Given the description of an element on the screen output the (x, y) to click on. 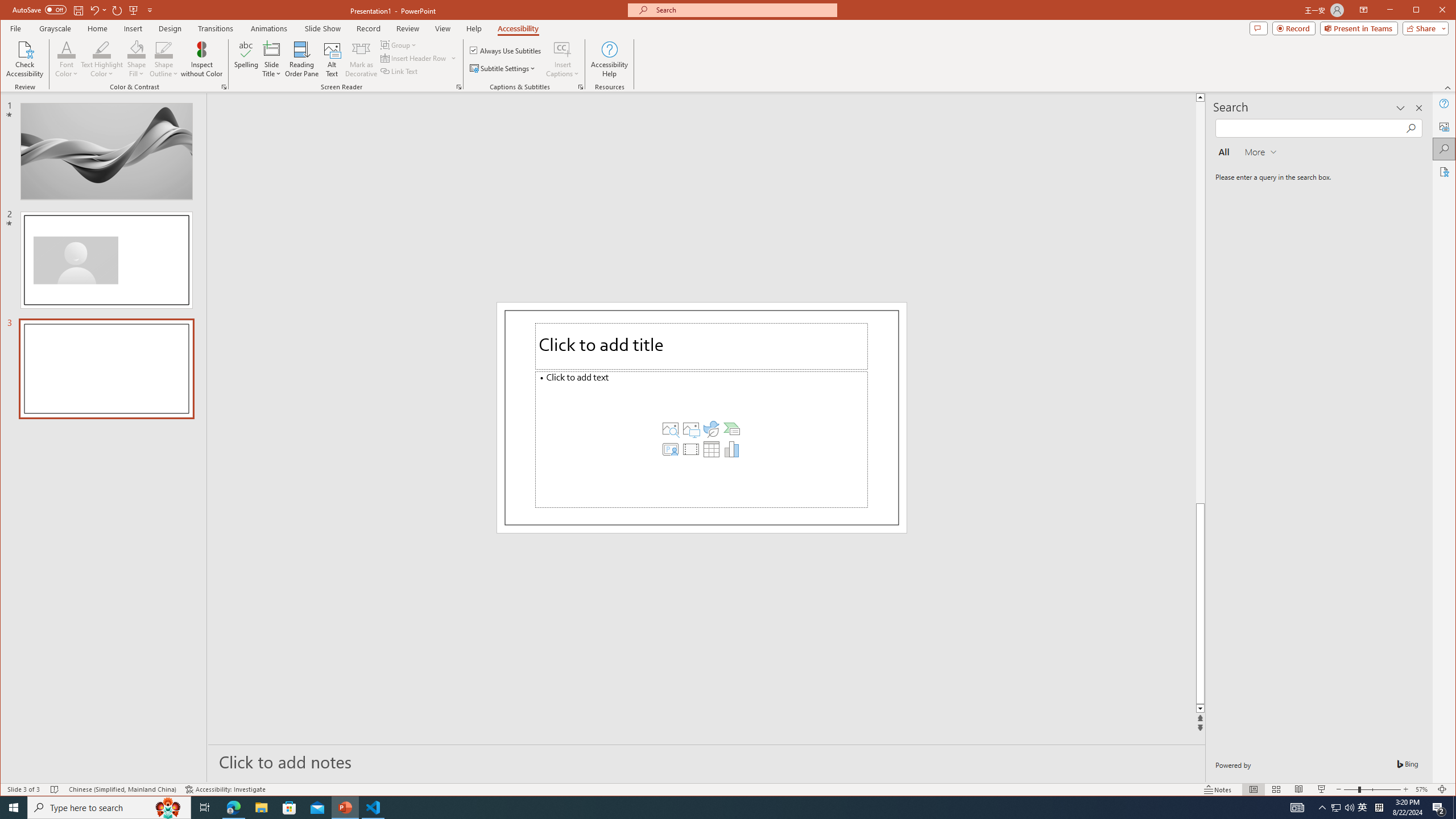
Zoom 57% (1422, 789)
Reading Order Pane (301, 59)
Content Placeholder (701, 438)
